Given the description of an element on the screen output the (x, y) to click on. 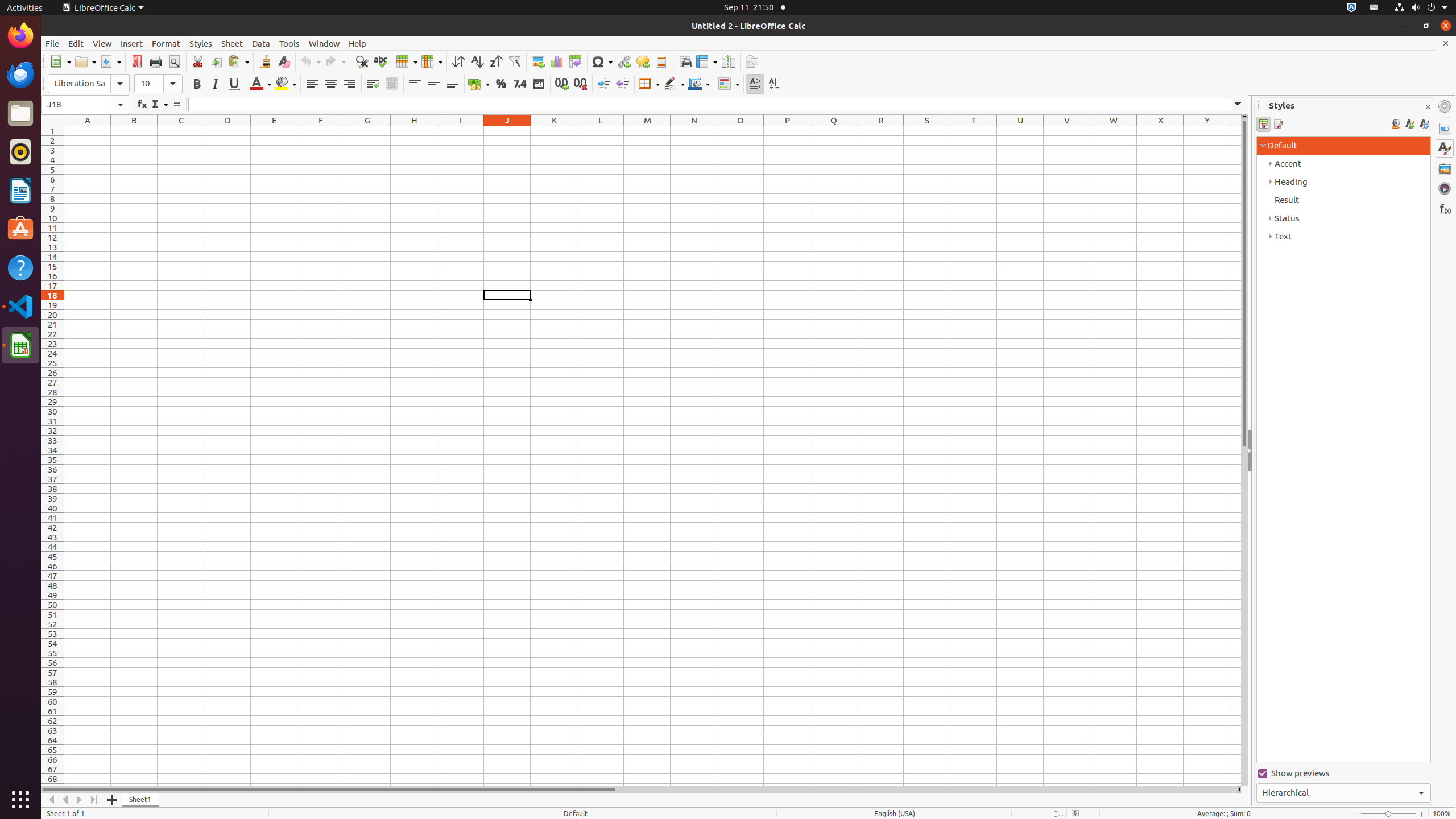
R1 Element type: table-cell (880, 130)
Draw Functions Element type: toggle-button (751, 61)
U1 Element type: table-cell (1020, 130)
Headers and Footers Element type: push-button (660, 61)
Y1 Element type: table-cell (1206, 130)
